Given the description of an element on the screen output the (x, y) to click on. 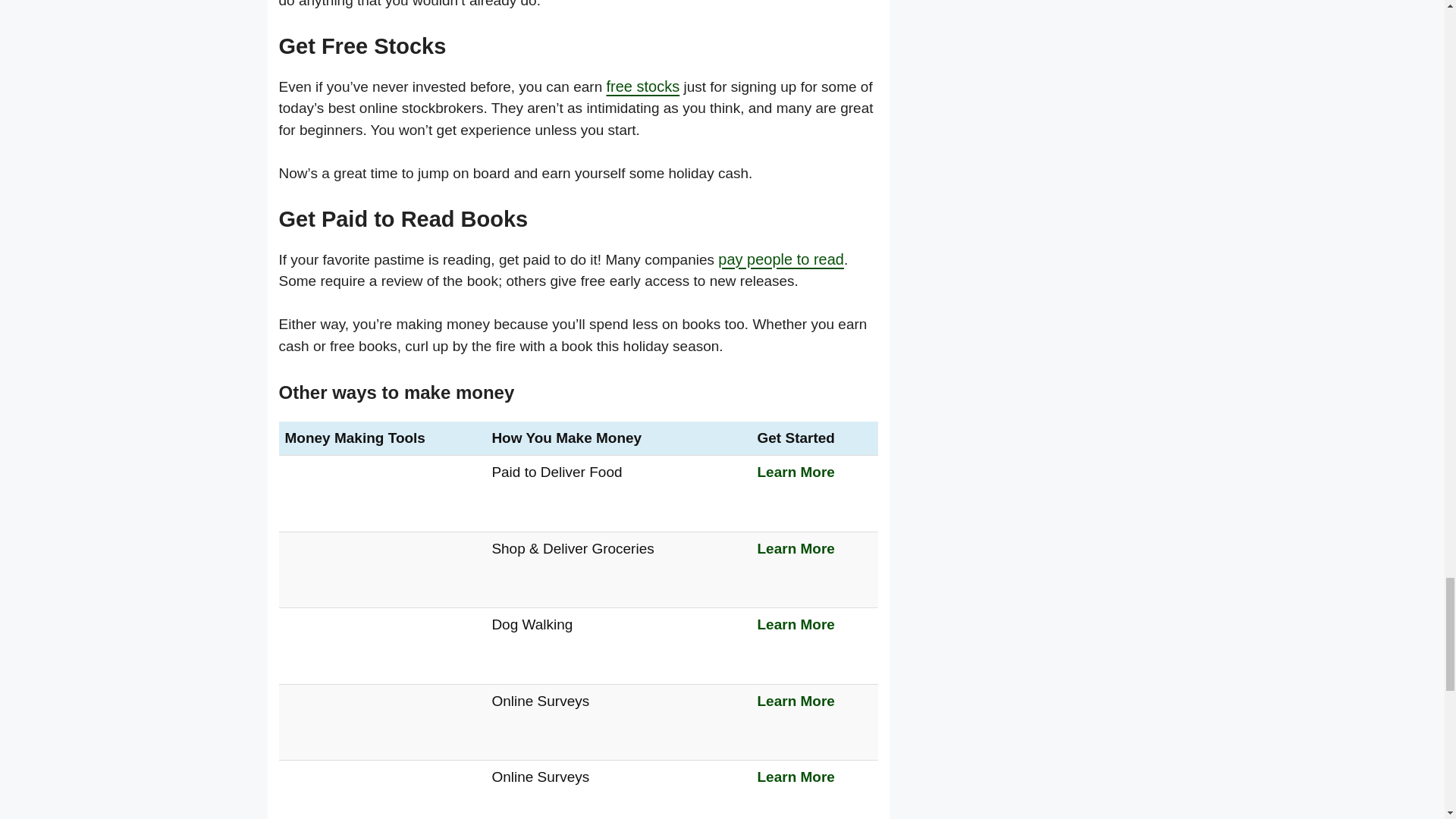
pay people to read (780, 258)
11 Best Seasonal Jobs To Apply For This Holiday Season (341, 742)
free stocks (642, 86)
11 Best Seasonal Jobs To Apply For This Holiday Season (341, 513)
11 Best Seasonal Jobs To Apply For This Holiday Season (341, 666)
11 Best Seasonal Jobs To Apply For This Holiday Season (341, 590)
11 Best Seasonal Jobs To Apply For This Holiday Season (341, 814)
